Given the description of an element on the screen output the (x, y) to click on. 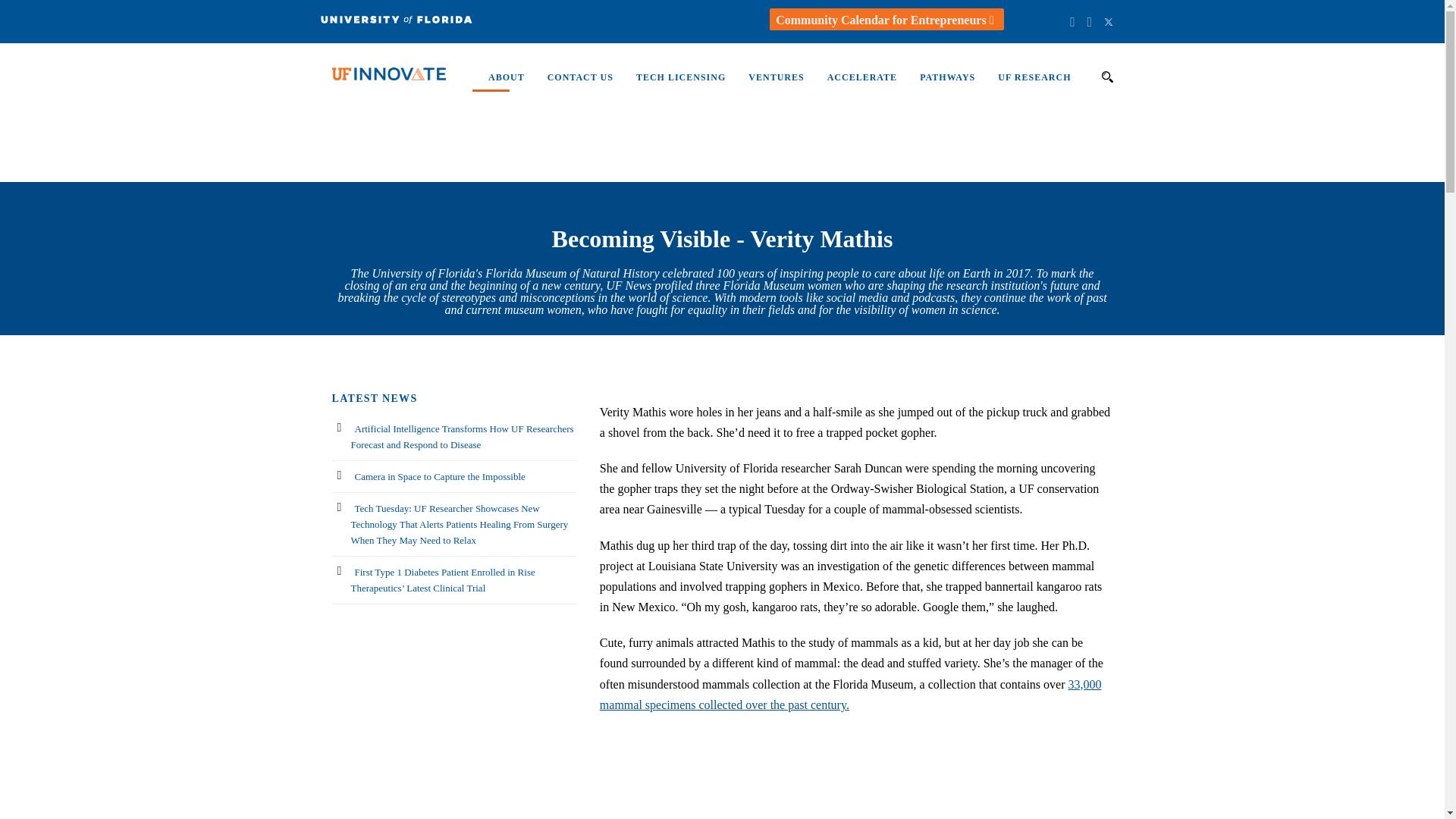
Community Calendar for Entrepreneurs (886, 19)
Accelerate (850, 84)
